Given the description of an element on the screen output the (x, y) to click on. 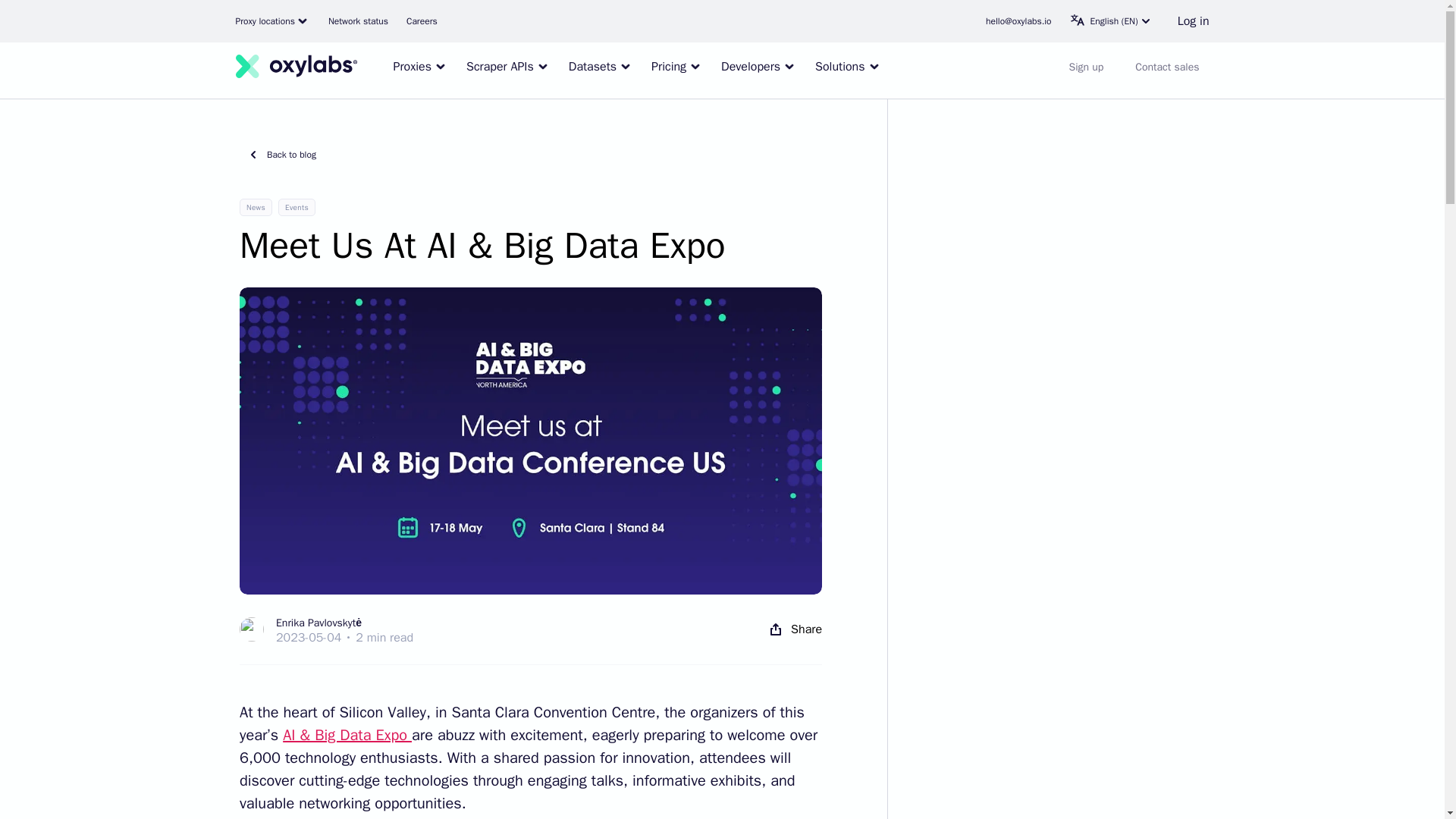
Contact sales (1166, 66)
Sign up (1085, 66)
Events (296, 207)
Back to blog (277, 154)
News (256, 207)
Careers (422, 20)
Network status (358, 20)
Log in (1193, 21)
